Given the description of an element on the screen output the (x, y) to click on. 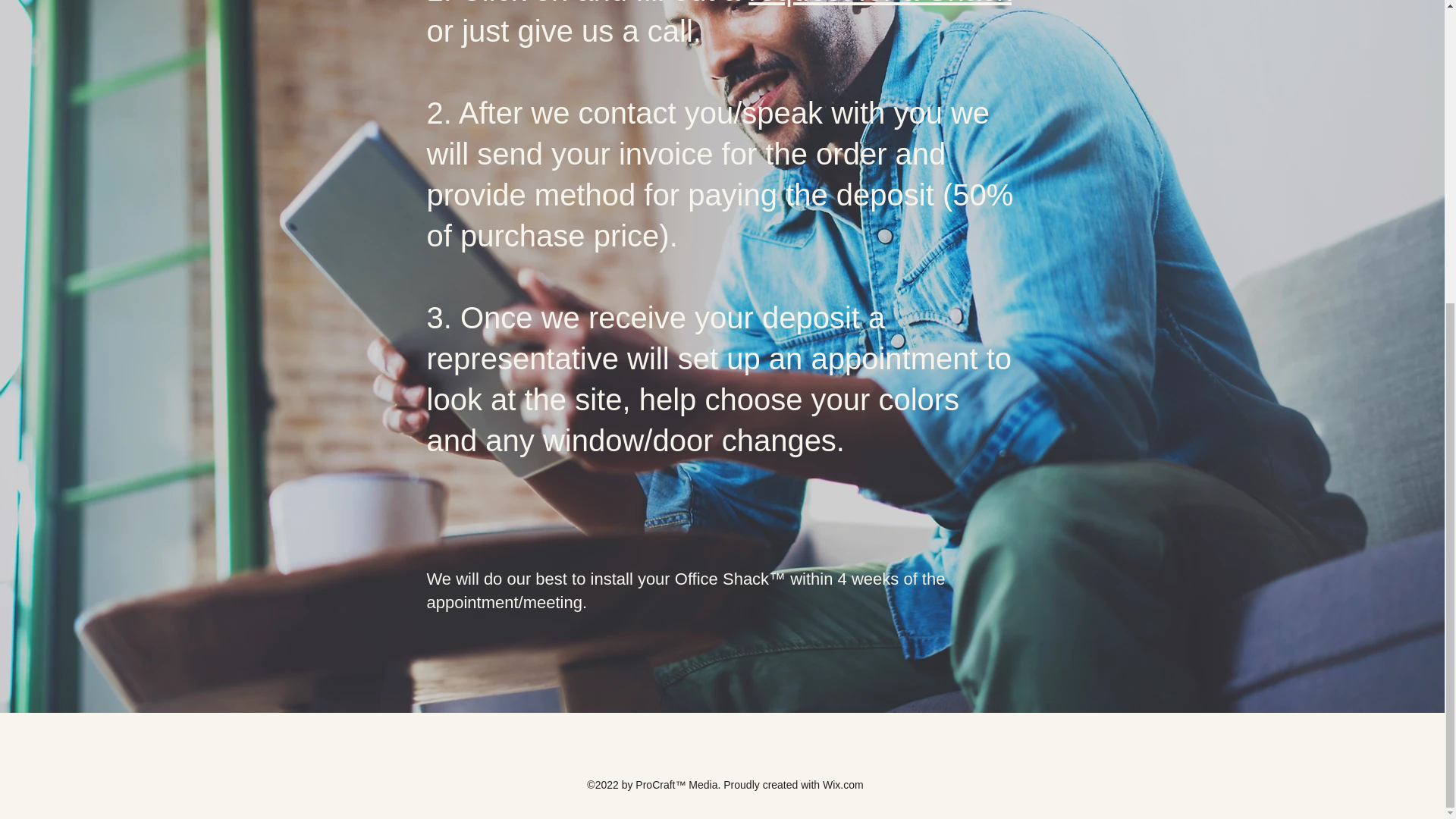
request for a Shack (879, 3)
